Given the description of an element on the screen output the (x, y) to click on. 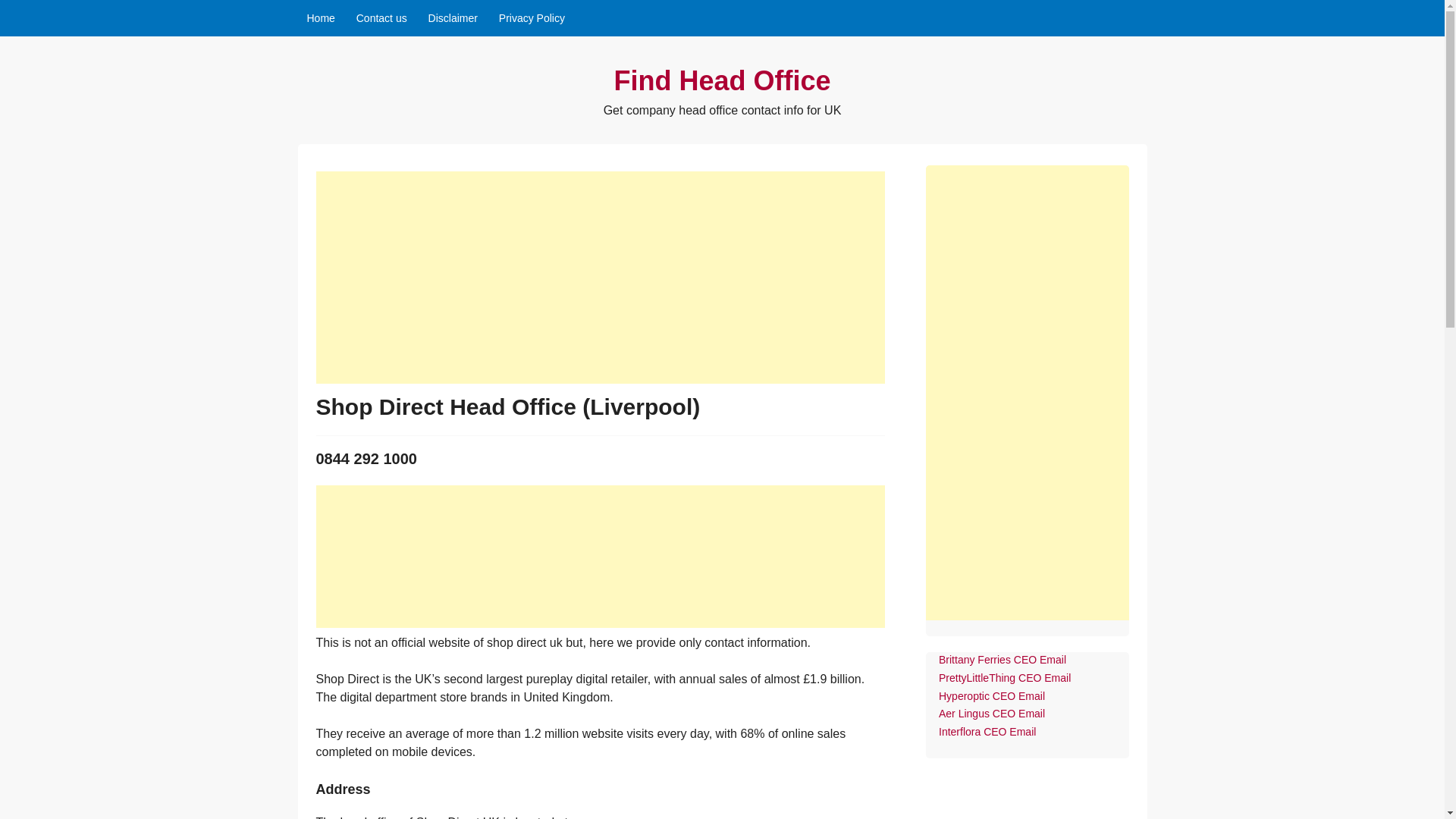
Advertisement (600, 556)
Interflora CEO Email (987, 731)
Advertisement (600, 277)
Find Head Office (720, 80)
Privacy Policy (531, 18)
Hyperoptic CEO Email (992, 695)
Brittany Ferries CEO Email (1002, 659)
Home (320, 18)
Contact us (381, 18)
Aer Lingus CEO Email (992, 713)
